Given the description of an element on the screen output the (x, y) to click on. 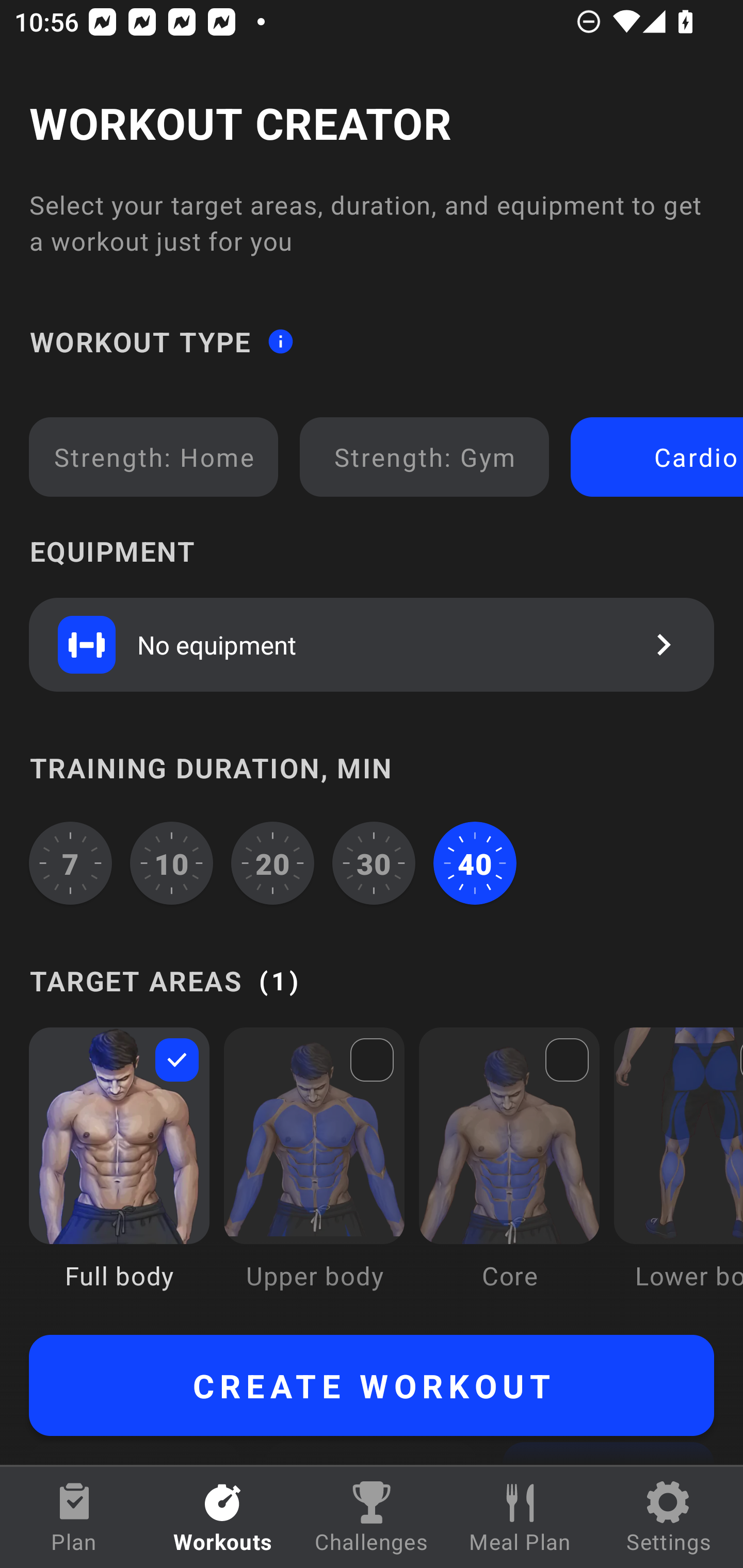
Workout type information button (280, 340)
Strength: Home (153, 457)
Strength: Gym (423, 457)
No equipment (371, 644)
7 (70, 863)
10 (171, 863)
20 (272, 863)
30 (373, 863)
40 (474, 863)
Upper body (313, 1172)
Core (509, 1172)
Lower body (678, 1172)
CREATE WORKOUT (371, 1385)
 Plan  (74, 1517)
 Challenges  (371, 1517)
 Meal Plan  (519, 1517)
 Settings  (668, 1517)
